Given the description of an element on the screen output the (x, y) to click on. 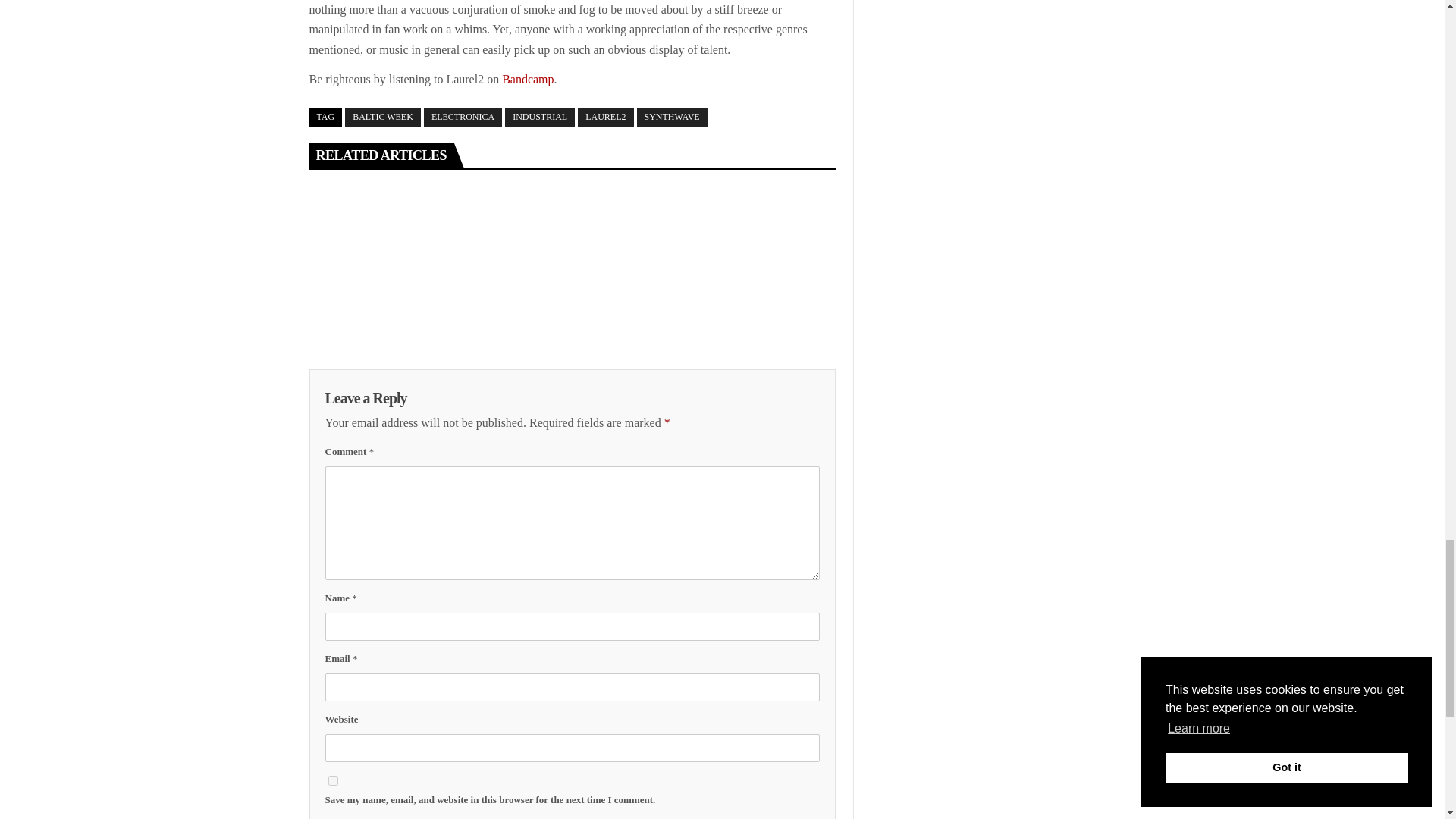
yes (332, 780)
